Given the description of an element on the screen output the (x, y) to click on. 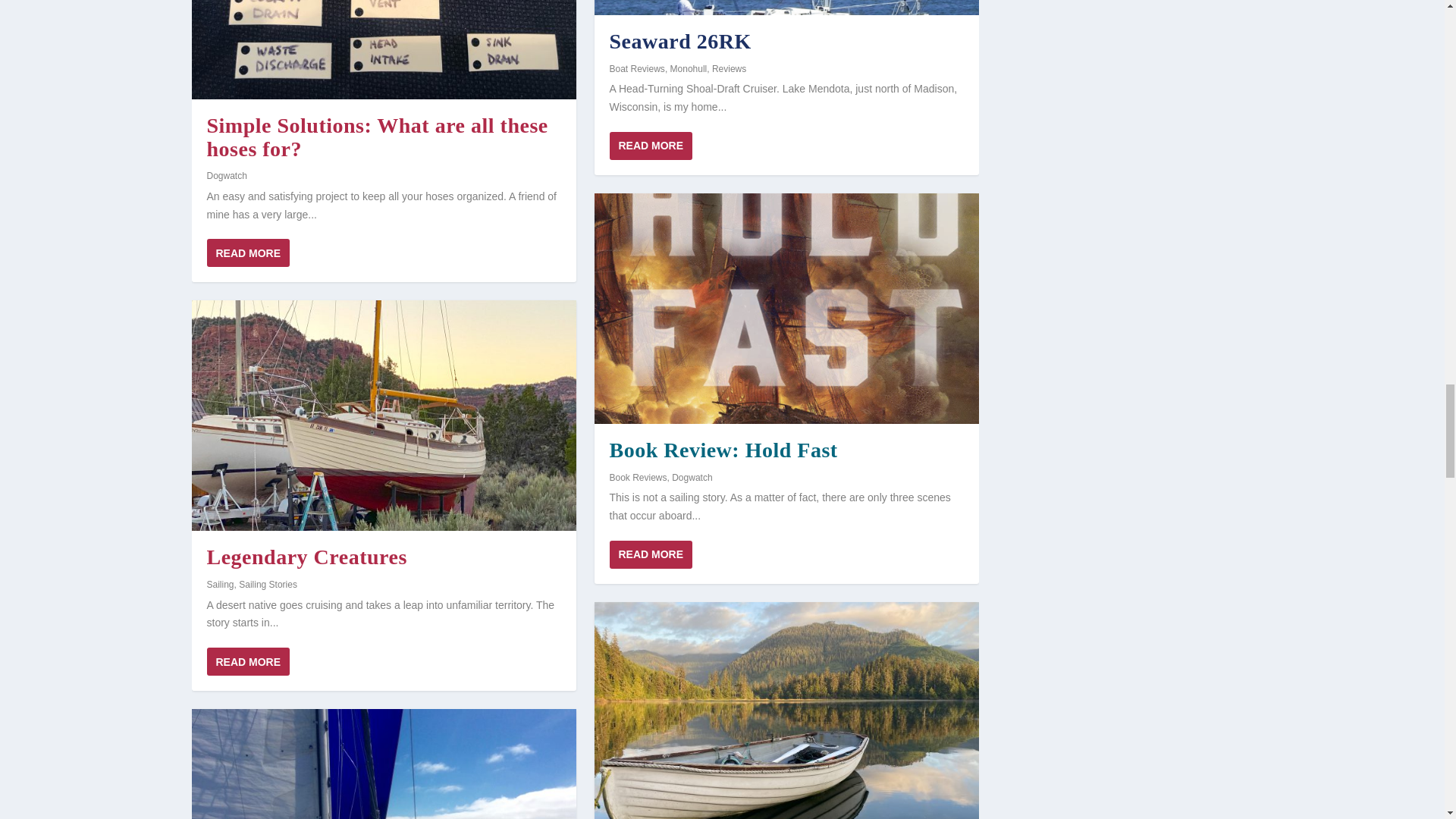
A Beautiful Voyage to the Columbia River (382, 764)
Legendary Creatures (382, 415)
Simple Solutions: What are all these hoses for? (382, 49)
